Given the description of an element on the screen output the (x, y) to click on. 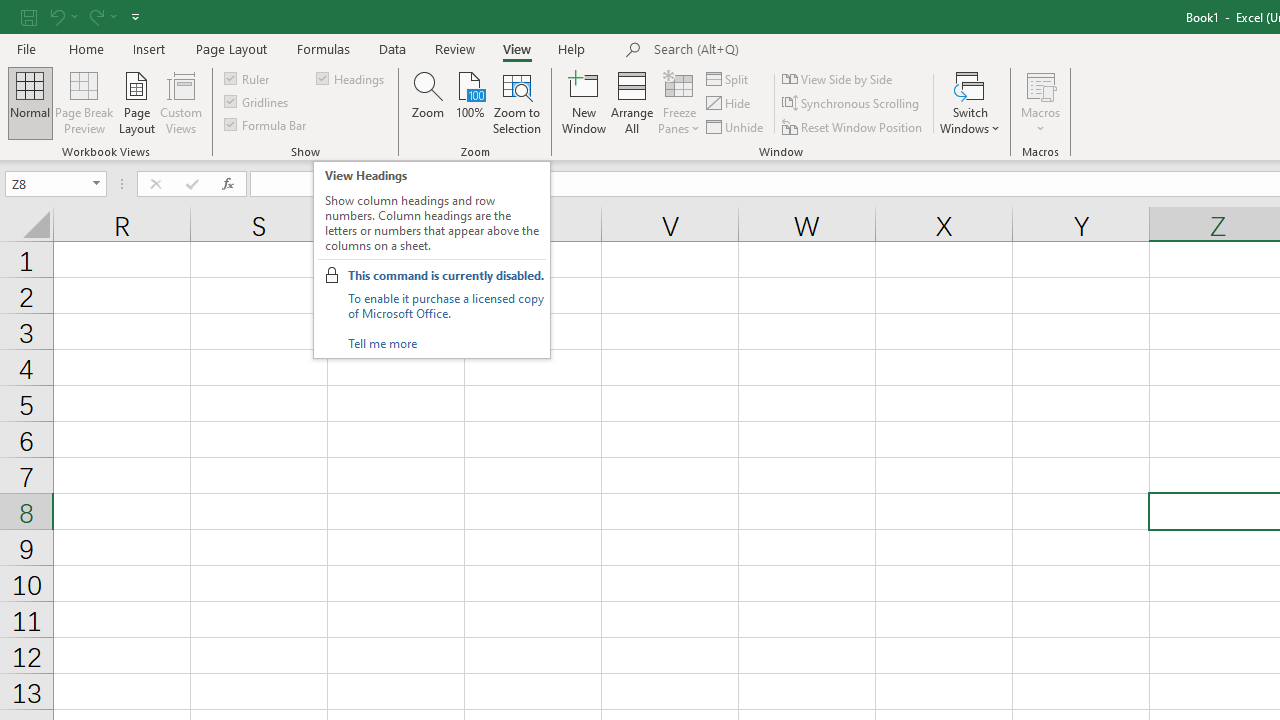
Switch Windows (970, 102)
Arrange All (632, 102)
Macros (1040, 102)
Ruler (248, 78)
Freeze Panes (678, 102)
Zoom to Selection (517, 102)
